Given the description of an element on the screen output the (x, y) to click on. 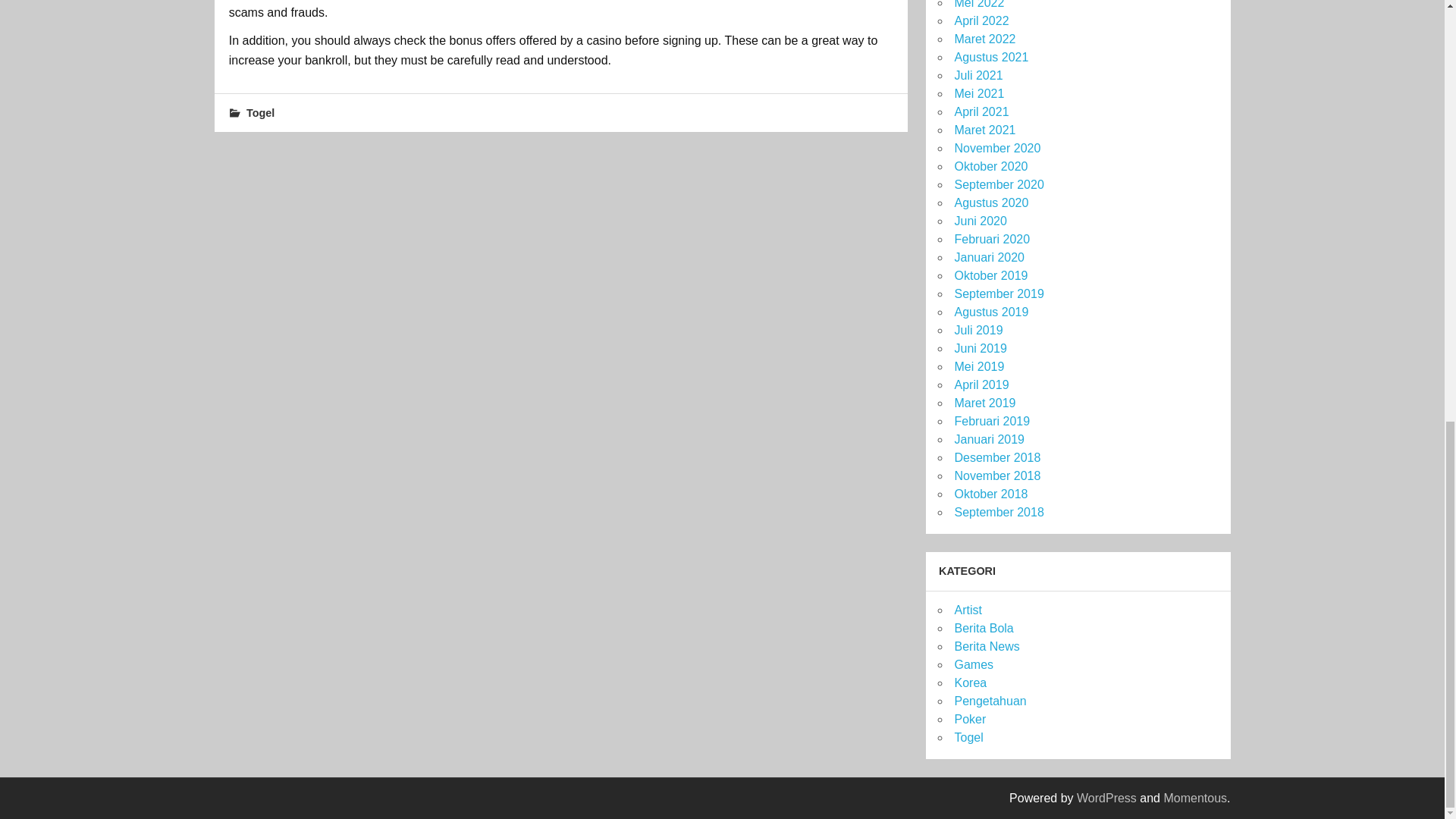
Momentous WordPress Theme (1195, 797)
WordPress (1107, 797)
Togel (260, 112)
